Given the description of an element on the screen output the (x, y) to click on. 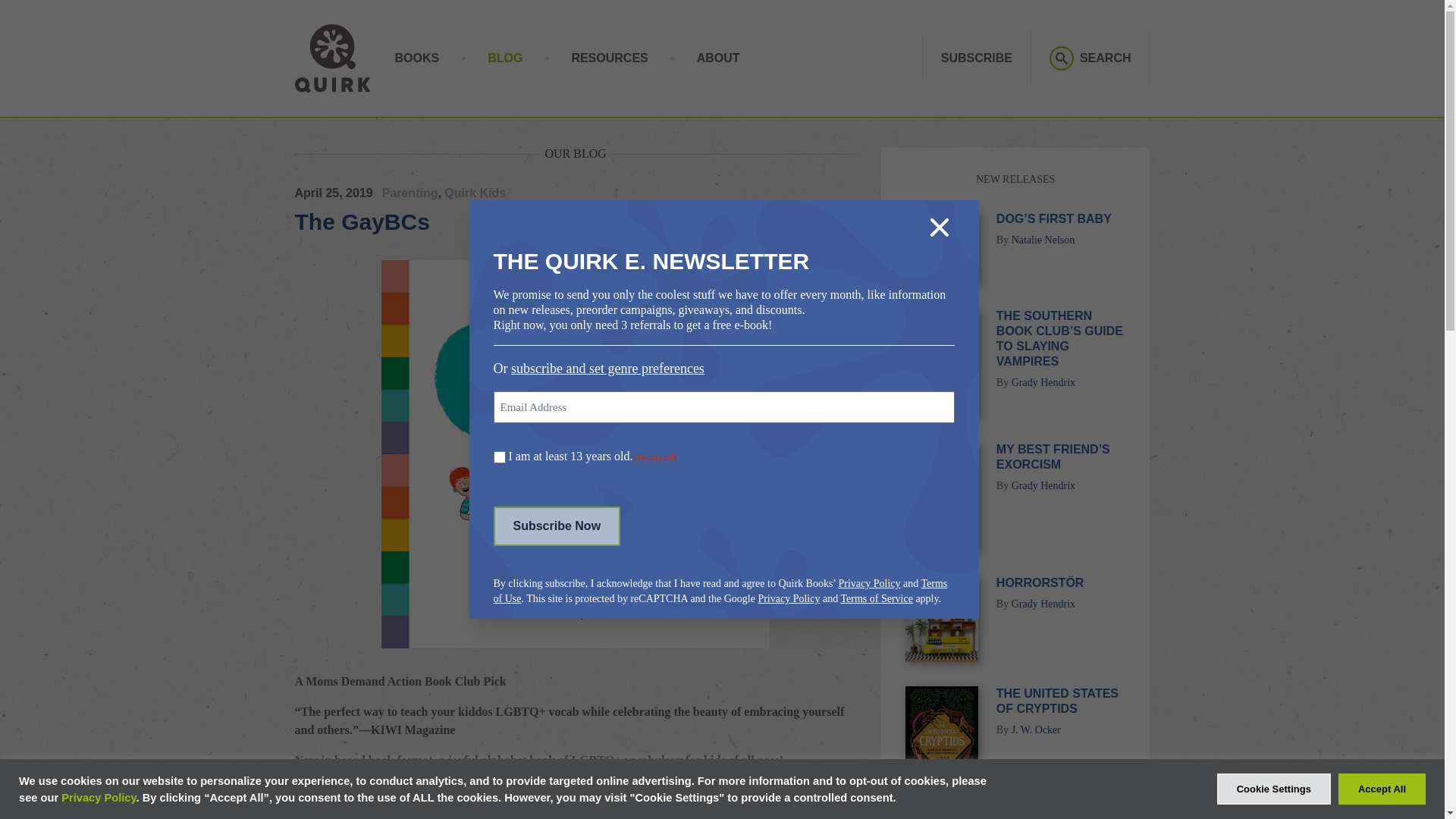
Grady Hendrix (1043, 382)
SUBSCRIBE (975, 57)
ABOUT (718, 57)
Quirk Kids (474, 193)
Natalie Nelson (1043, 239)
RESOURCES (608, 57)
1 (499, 457)
BOOKS (416, 57)
The GayBCs (361, 221)
BLOG (504, 57)
SEARCH (1090, 58)
Parenting (409, 193)
